Given the description of an element on the screen output the (x, y) to click on. 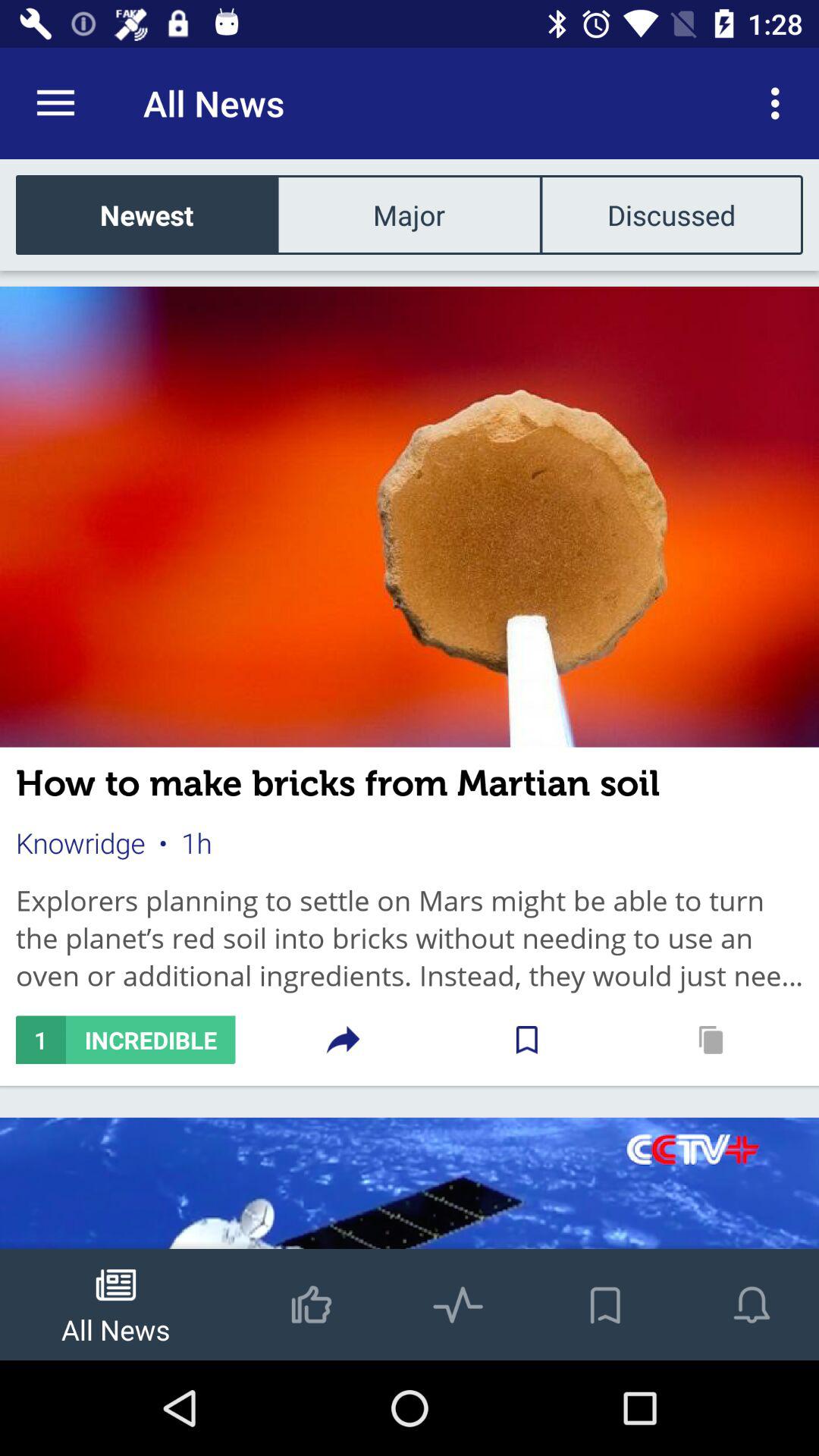
select the item at the top (409, 214)
